Given the description of an element on the screen output the (x, y) to click on. 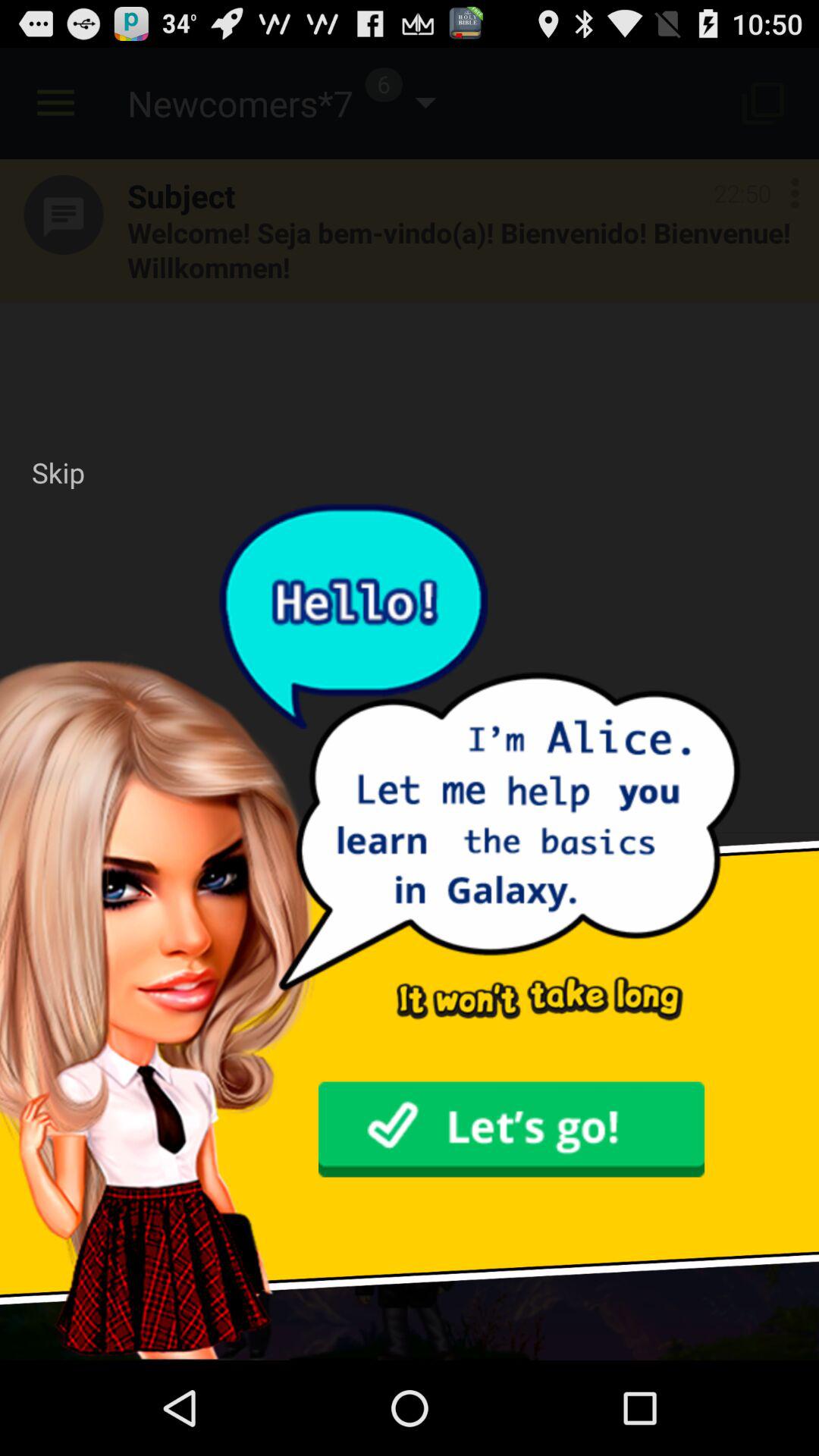
flip to the skip (57, 472)
